Given the description of an element on the screen output the (x, y) to click on. 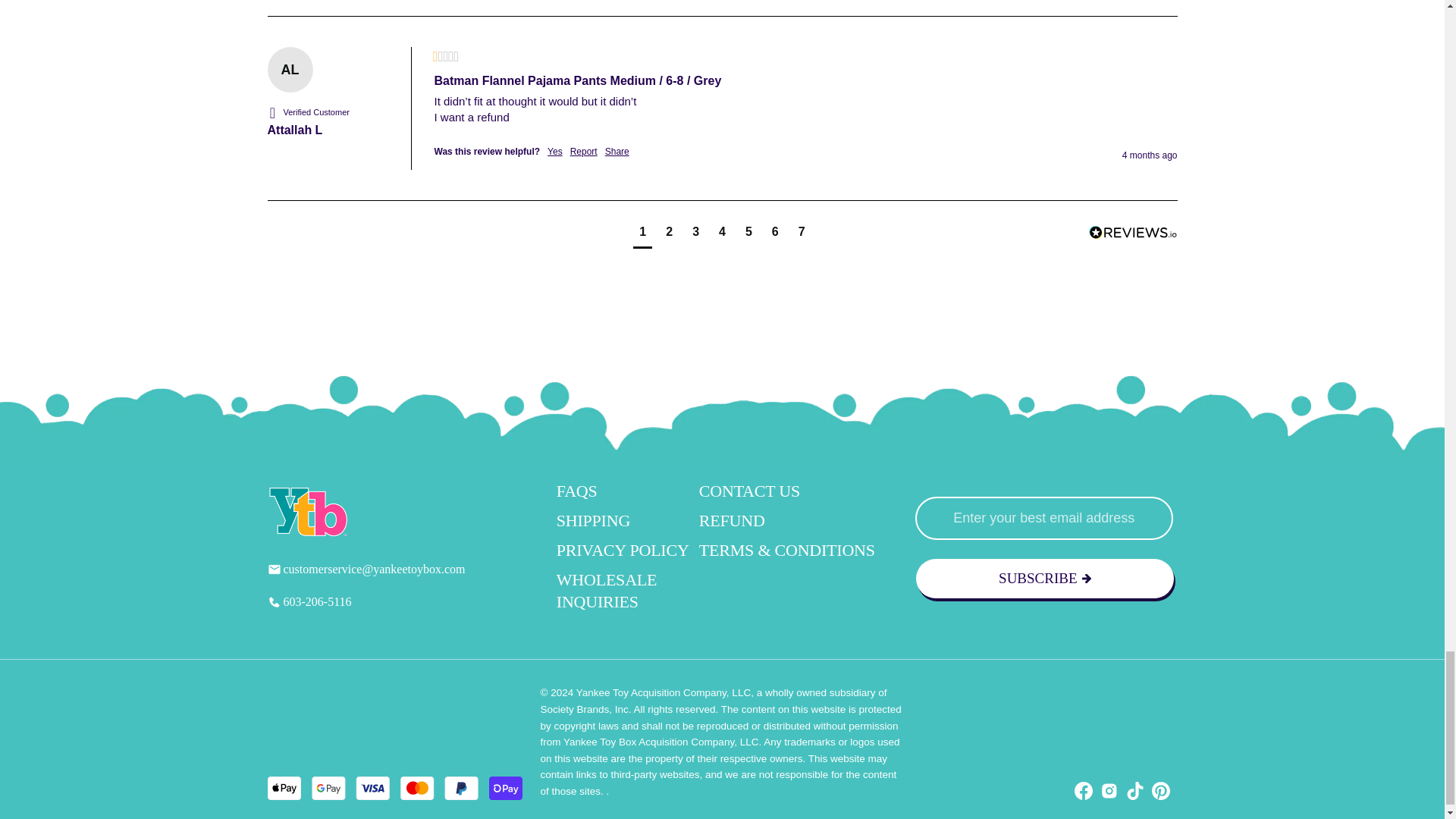
1 Stars (445, 57)
